Given the description of an element on the screen output the (x, y) to click on. 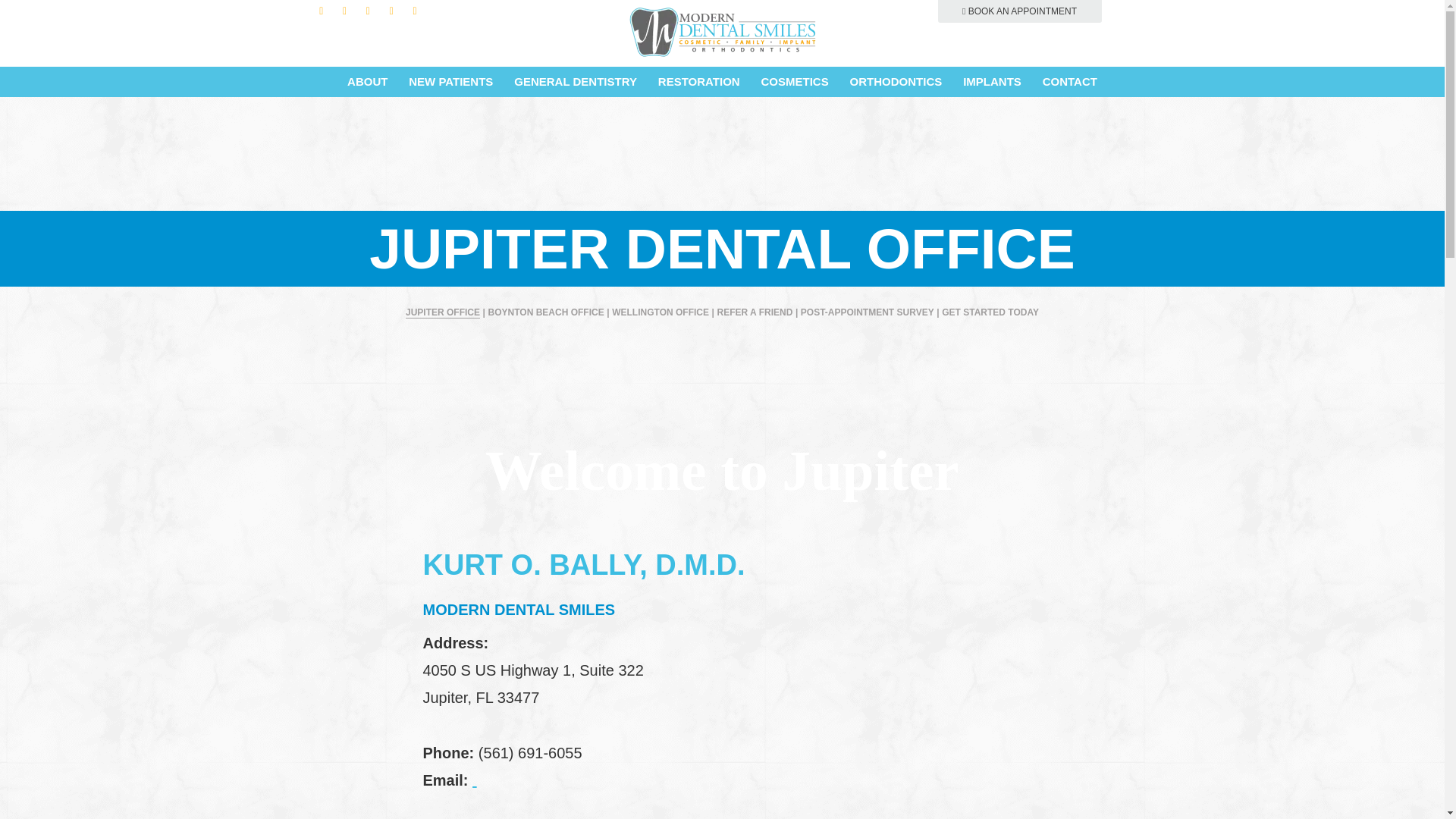
BOOK AN APPOINTMENT (1018, 11)
ABOUT (366, 81)
NEW PATIENTS (450, 81)
GENERAL DENTISTRY (575, 81)
